Given the description of an element on the screen output the (x, y) to click on. 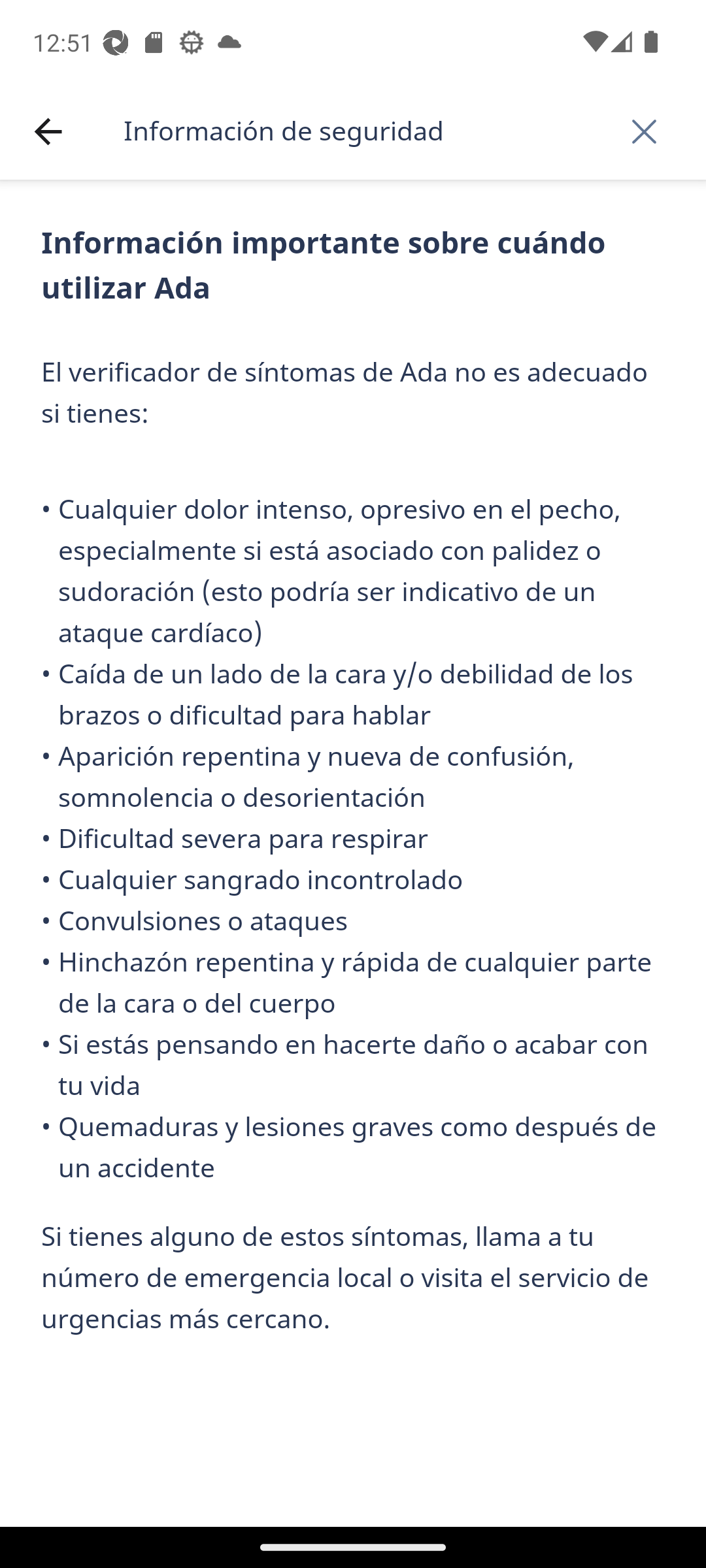
Navigate up (48, 131)
Back, Close the safety information screen (644, 131)
